Given the description of an element on the screen output the (x, y) to click on. 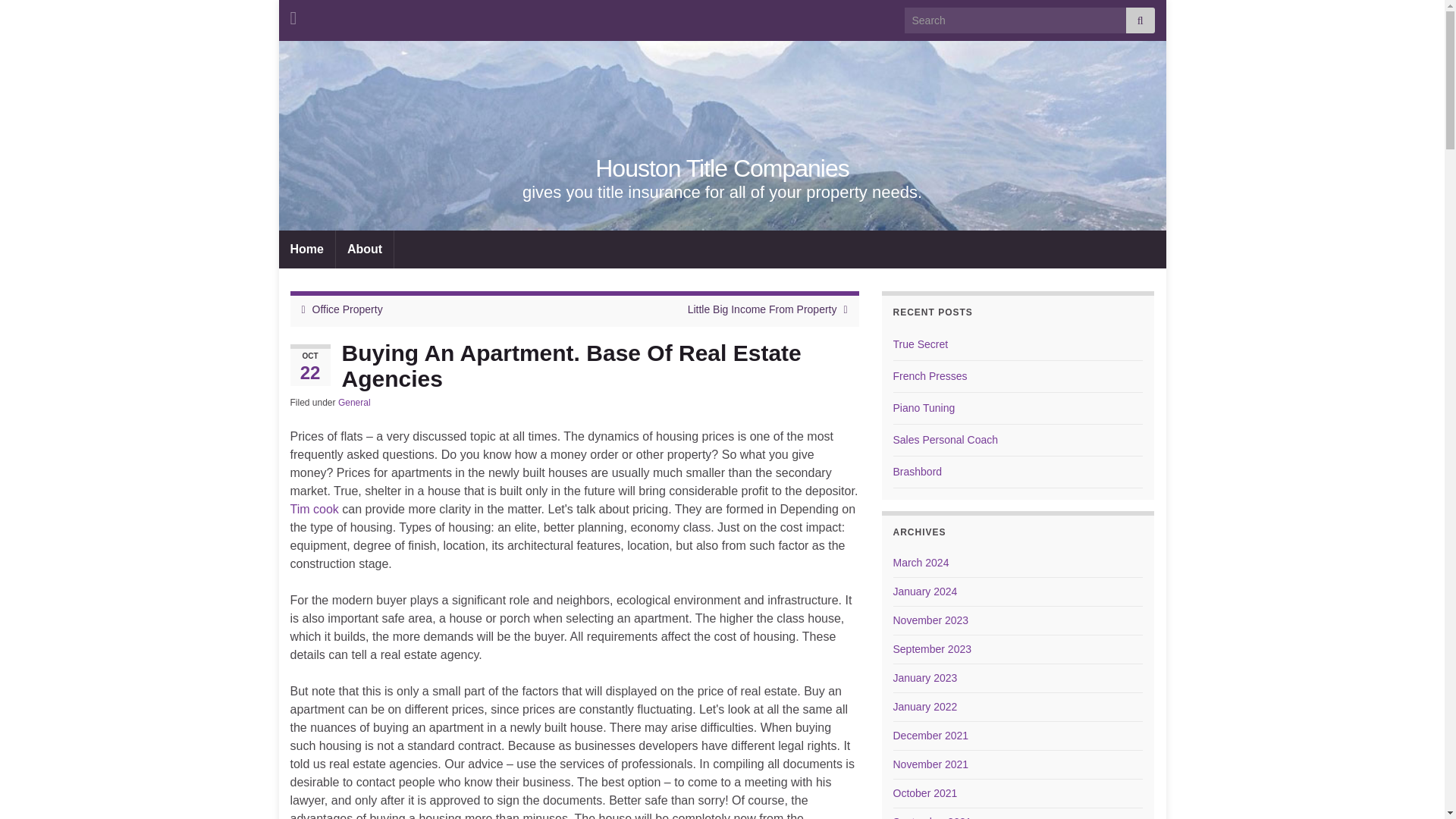
Brashbord (917, 471)
January 2023 (925, 677)
Little Big Income From Property (762, 309)
January 2024 (925, 591)
Office Property (347, 309)
About (364, 249)
Go back to the front page (721, 167)
September 2021 (932, 817)
November 2023 (931, 620)
Piano Tuning (924, 408)
January 2022 (925, 706)
Tim cook (313, 508)
September 2023 (932, 648)
Sales Personal Coach (945, 439)
December 2021 (931, 735)
